Given the description of an element on the screen output the (x, y) to click on. 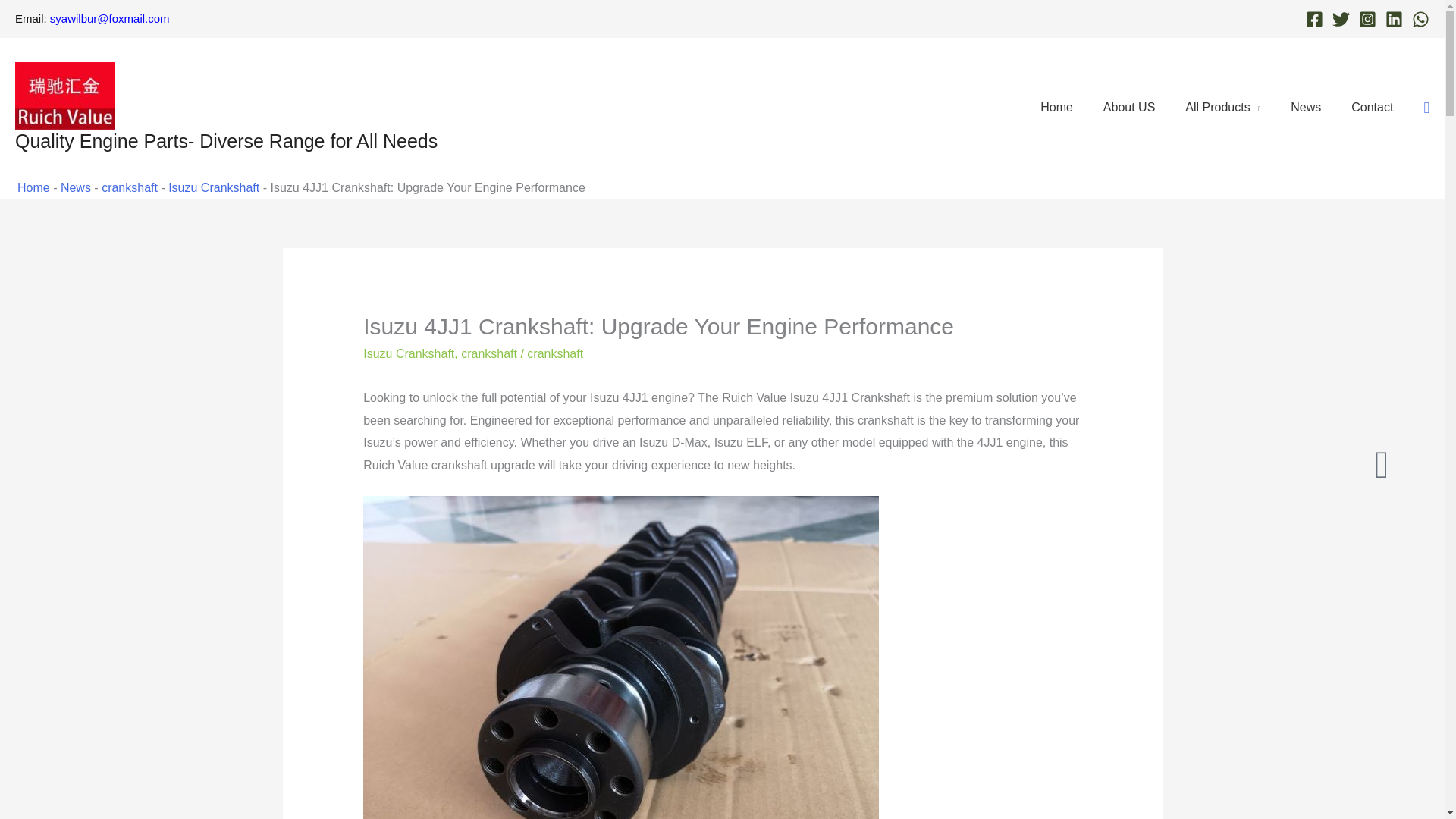
About US (1128, 106)
Quality Engine Parts- Diverse Range for All Needs (226, 140)
News (1305, 106)
Contact (1371, 106)
Home (1056, 106)
All Products (1222, 106)
